Given the description of an element on the screen output the (x, y) to click on. 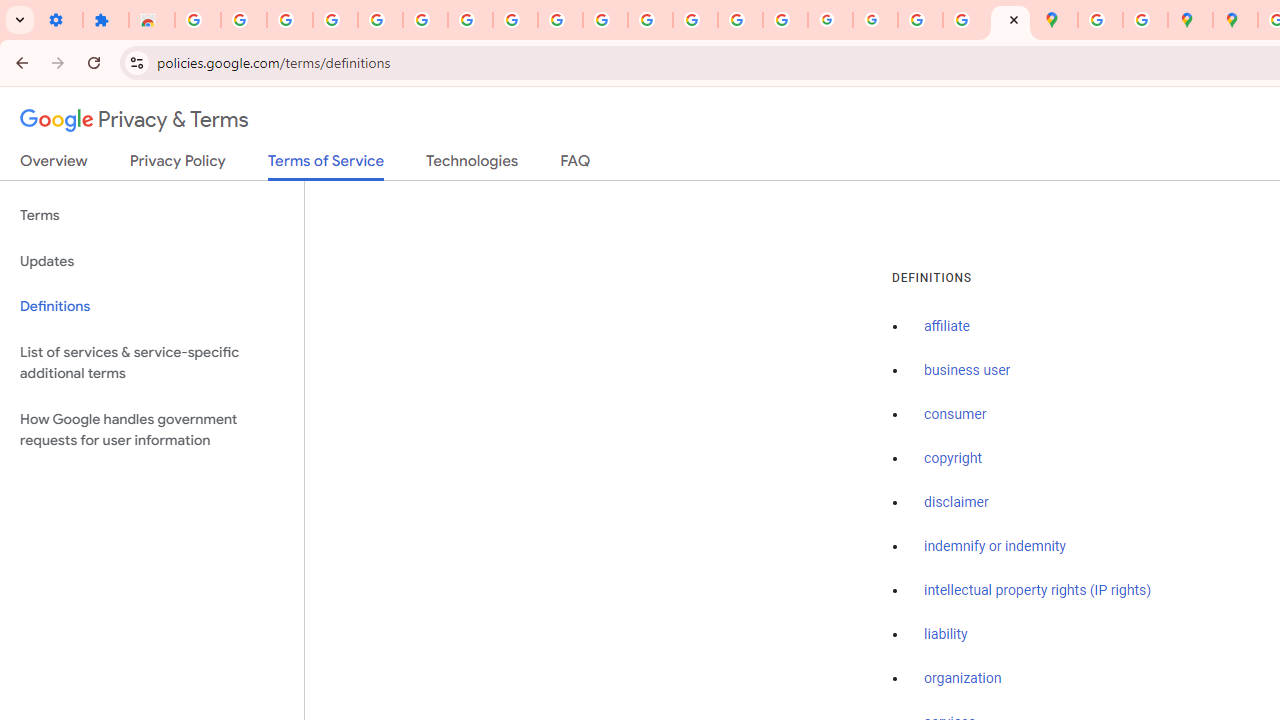
Reviews: Helix Fruit Jump Arcade Game (152, 20)
disclaimer (956, 502)
affiliate (947, 327)
business user (967, 371)
YouTube (559, 20)
Safety in Our Products - Google Safety Center (1145, 20)
